Given the description of an element on the screen output the (x, y) to click on. 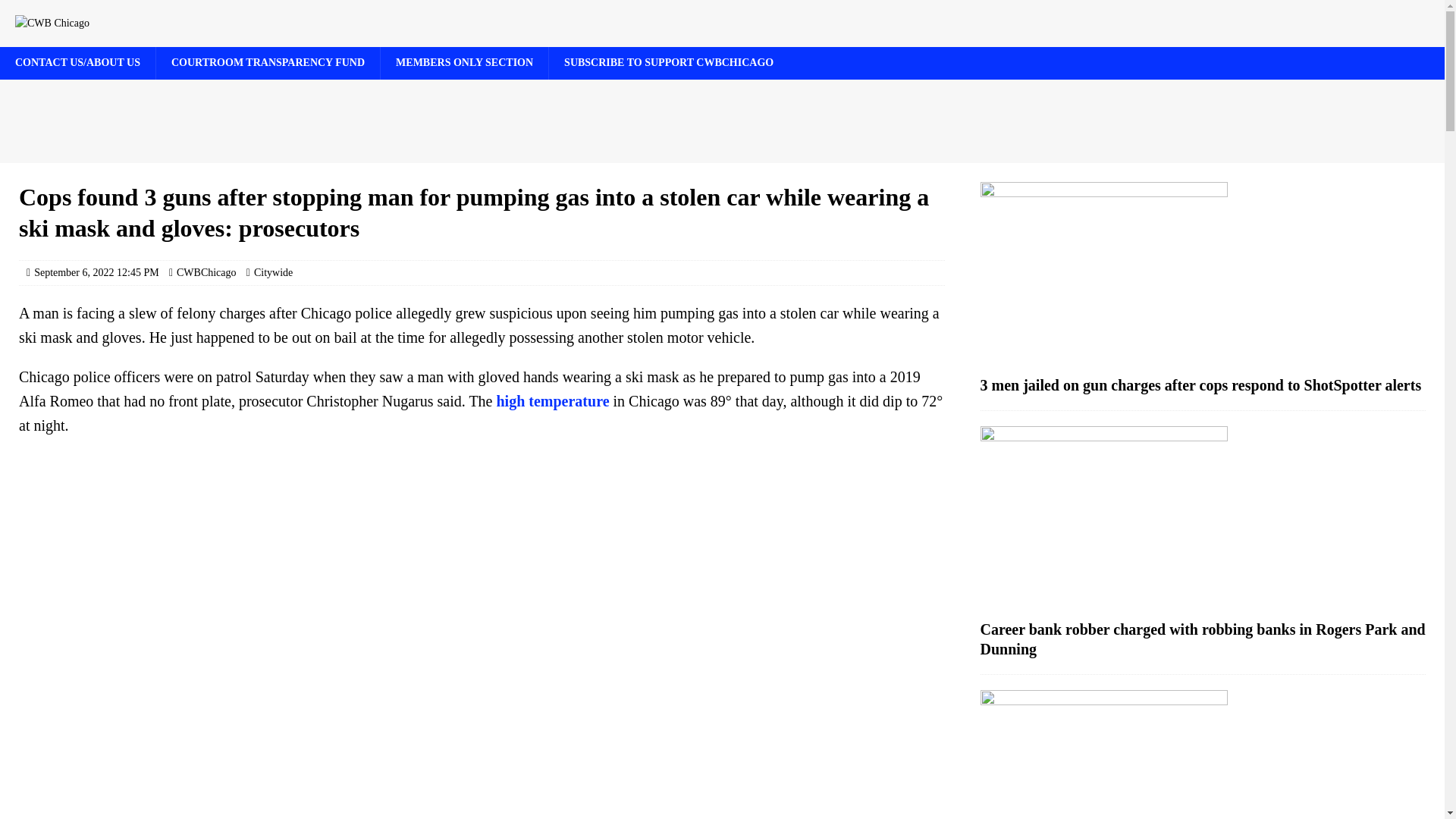
September 6, 2022 12:45 PM (95, 272)
COURTROOM TRANSPARENCY FUND (267, 62)
MEMBERS ONLY SECTION (464, 62)
high temperature (552, 401)
SUBSCRIBE TO SUPPORT CWBCHICAGO (668, 62)
